Given the description of an element on the screen output the (x, y) to click on. 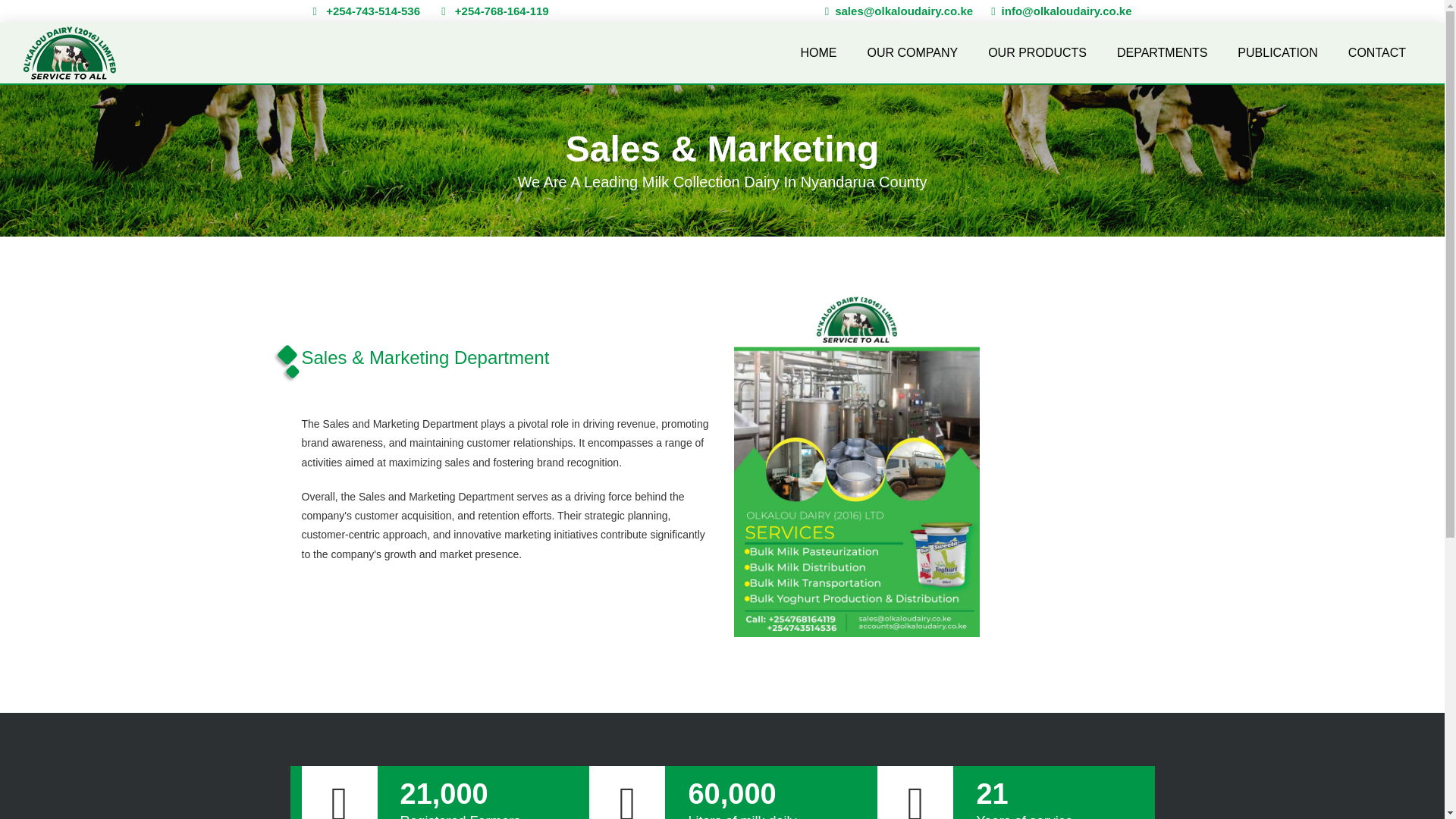
OUR COMPANY (912, 52)
HOME (817, 52)
PUBLICATION (1277, 52)
DEPARTMENTS (1161, 52)
CONTACT (1377, 52)
OUR PRODUCTS (1037, 52)
